Given the description of an element on the screen output the (x, y) to click on. 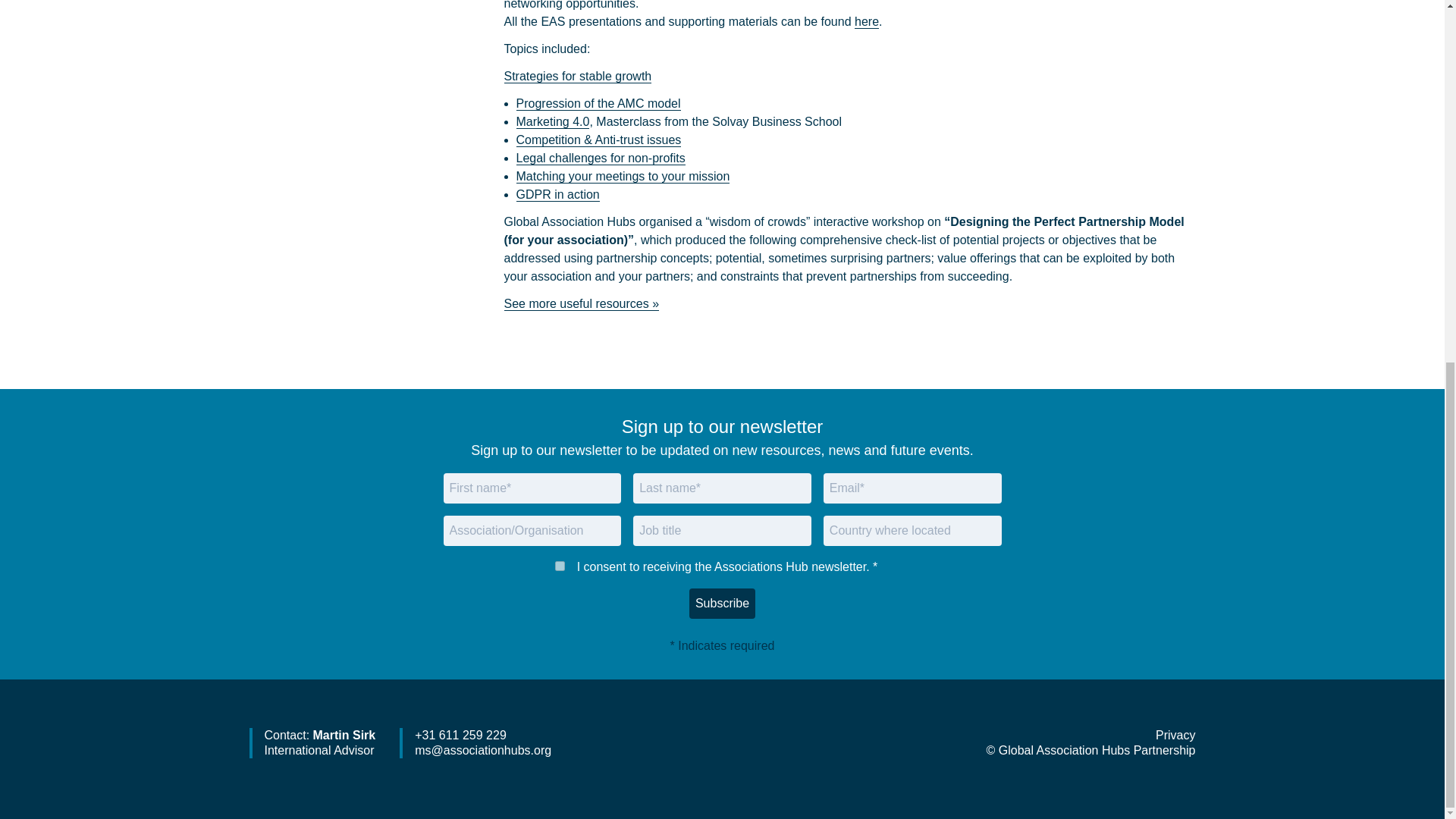
Progression of the AMC model (597, 103)
Legal challenges for non-profits (599, 158)
Matching your meetings to your mission (622, 176)
on (559, 565)
Marketing 4.0 (552, 121)
Privacy (1175, 735)
Subscribe (721, 603)
GDPR in action (556, 194)
Strategies for stable growth (576, 76)
here (866, 21)
